Given the description of an element on the screen output the (x, y) to click on. 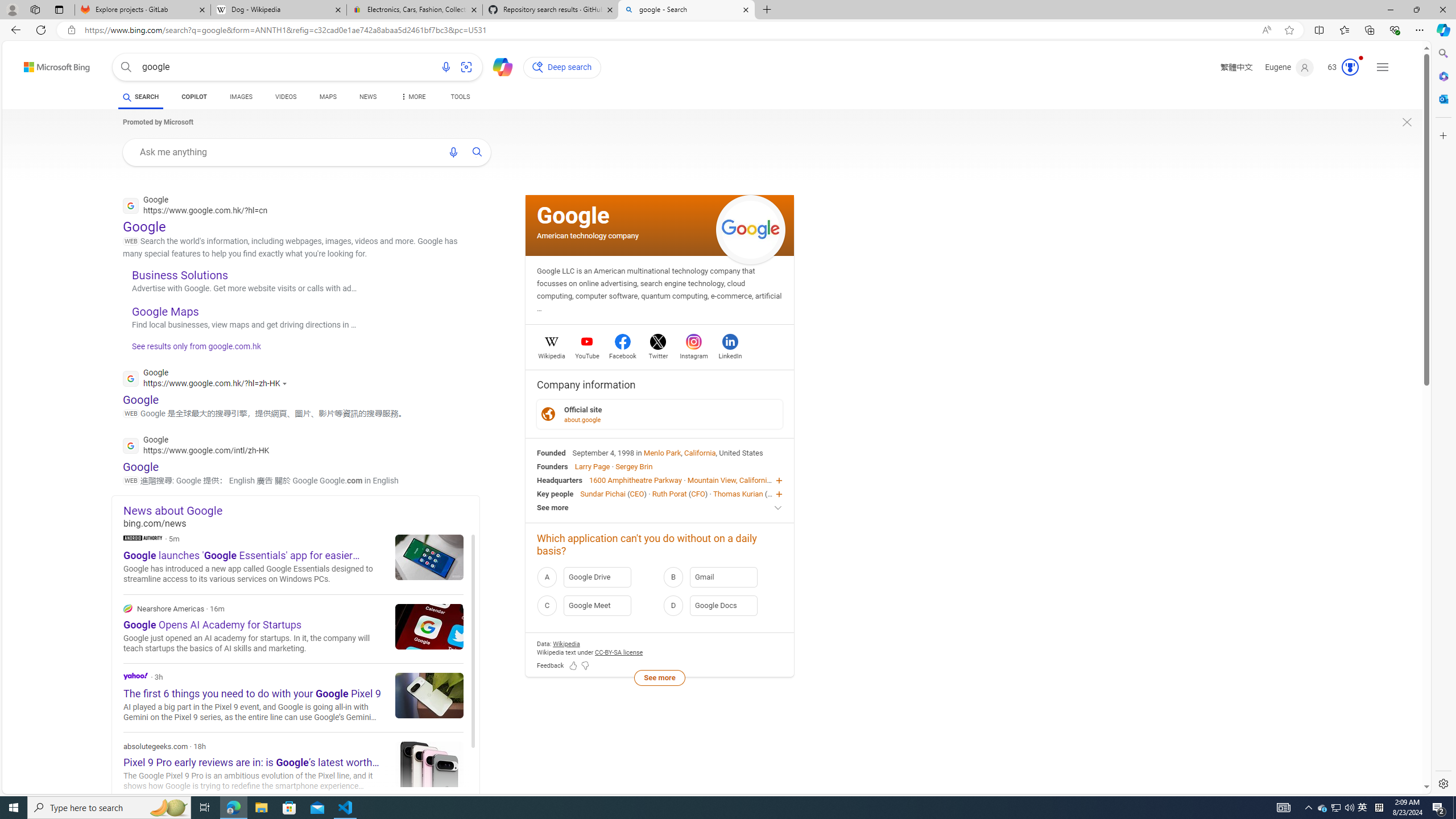
Instagram (693, 354)
Google Opens AI Academy for Startups (428, 626)
